Given the description of an element on the screen output the (x, y) to click on. 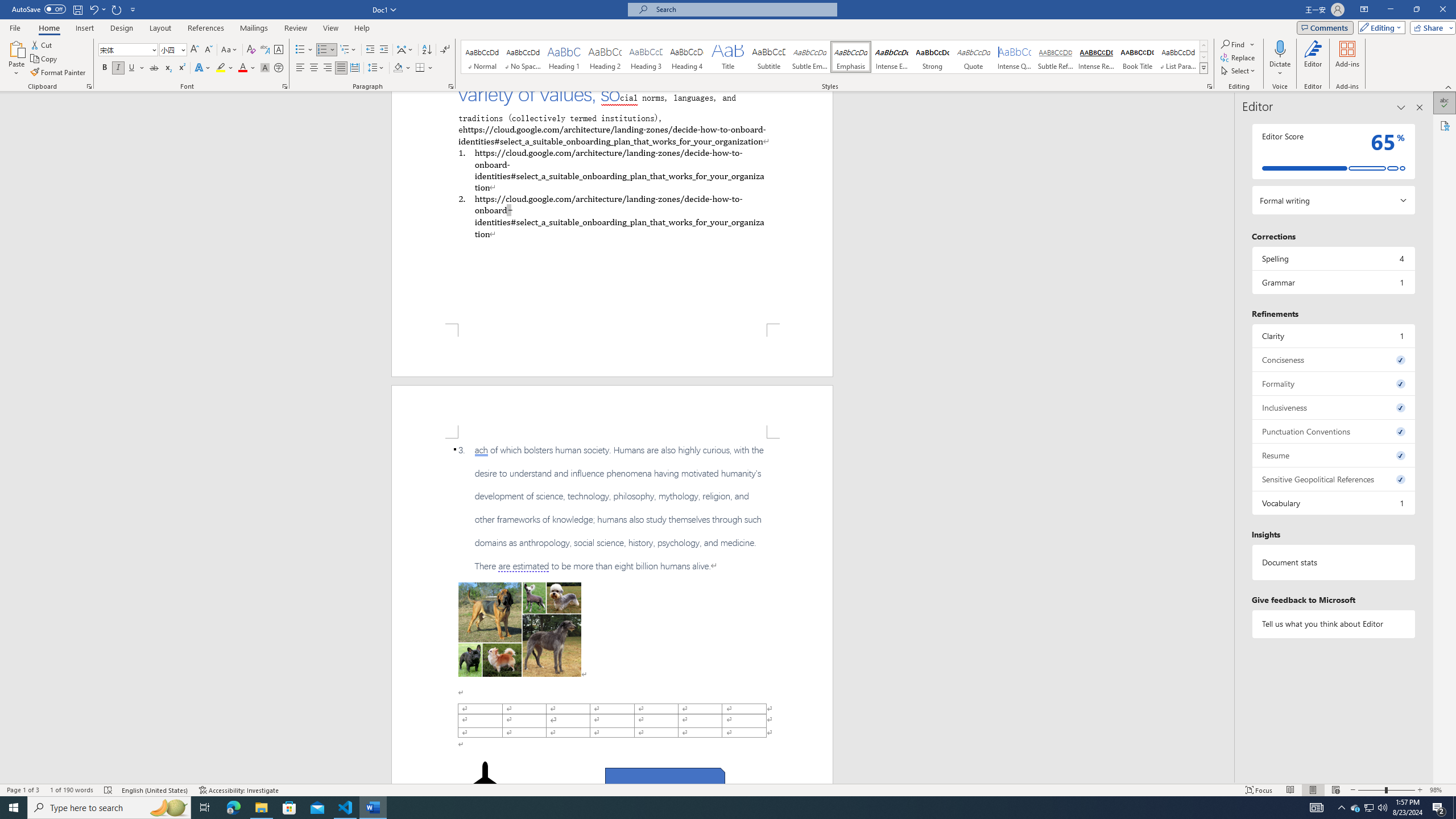
Intense Emphasis (891, 56)
1. (611, 169)
